Given the description of an element on the screen output the (x, y) to click on. 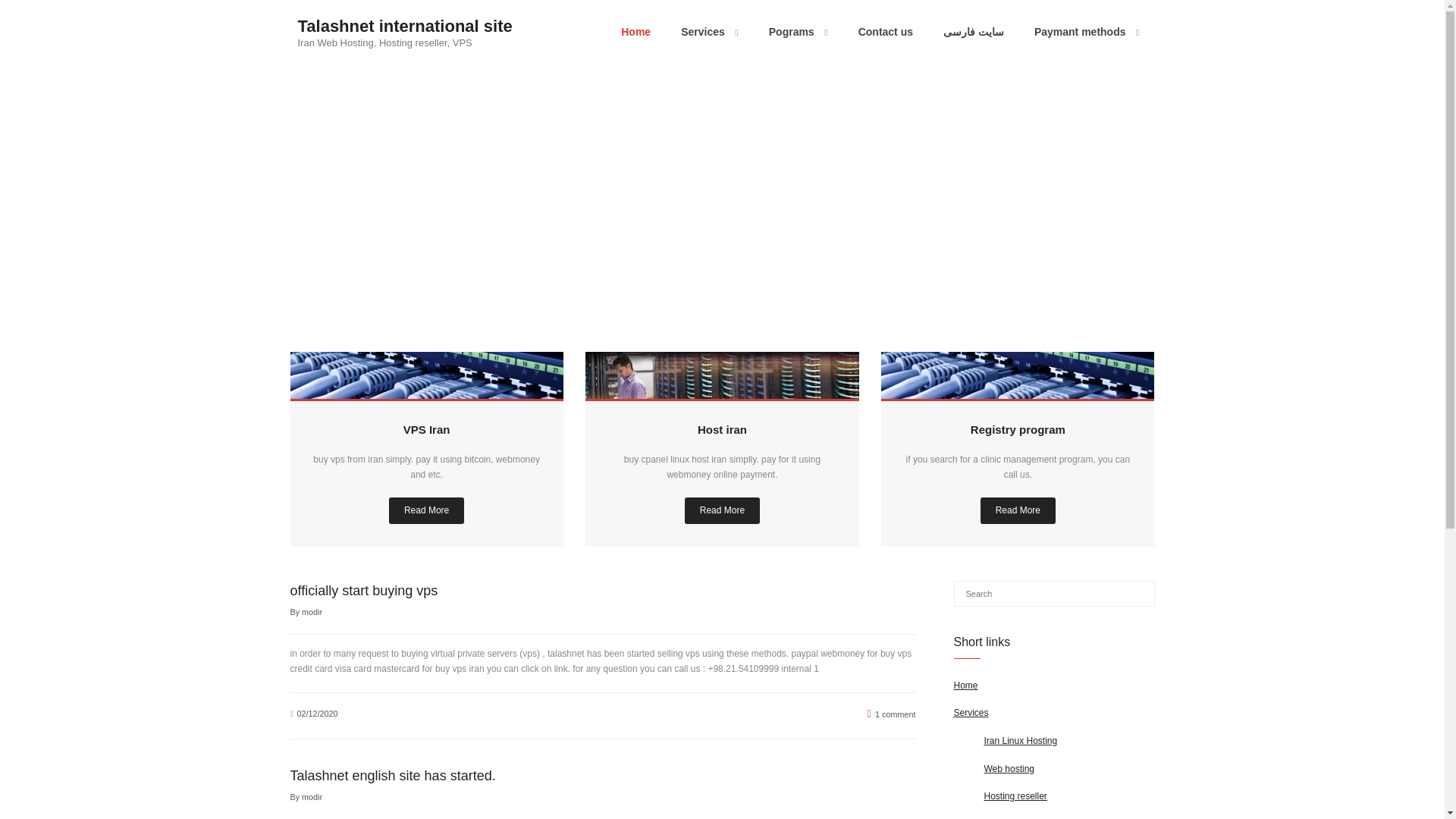
Contact us (885, 31)
View all posts by modir (311, 611)
Read More (426, 510)
Permalink to Talashnet english site has started. (392, 775)
Talashnet international site (404, 26)
Pograms (798, 31)
Permalink to officially start buying vps (363, 590)
Services (709, 31)
Home (635, 31)
